Given the description of an element on the screen output the (x, y) to click on. 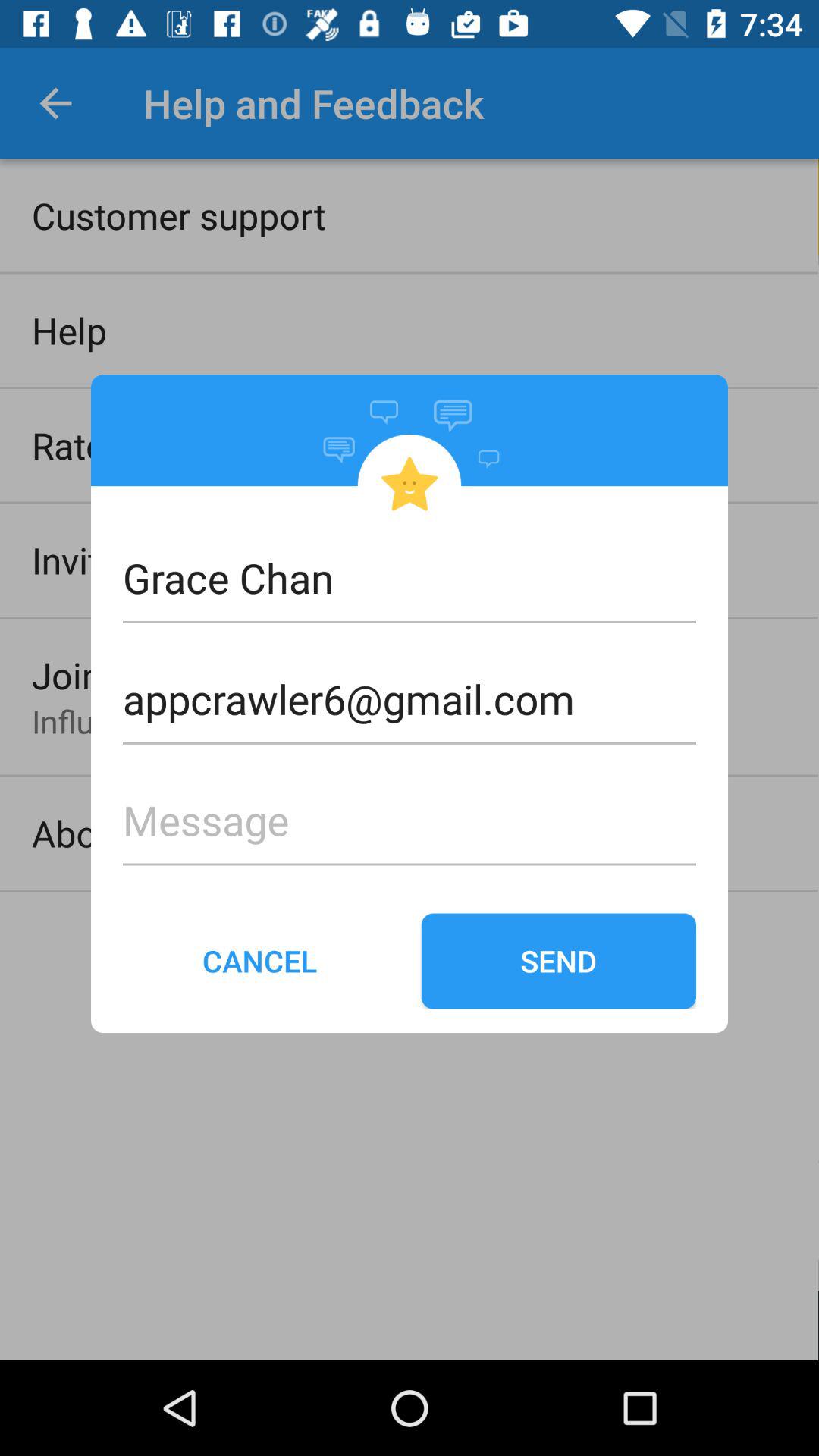
launch item next to send icon (259, 960)
